Given the description of an element on the screen output the (x, y) to click on. 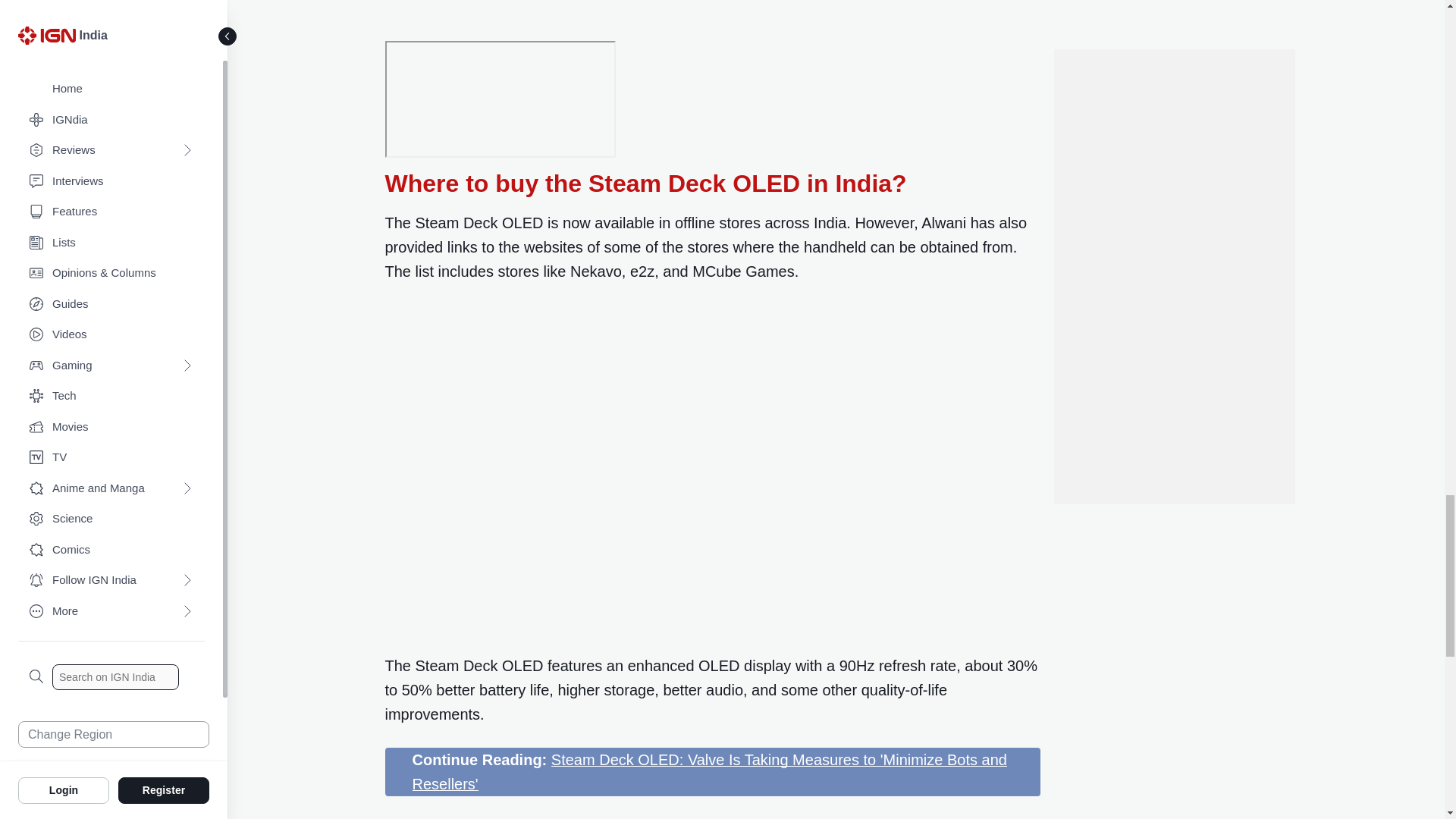
X Post (593, 15)
